Given the description of an element on the screen output the (x, y) to click on. 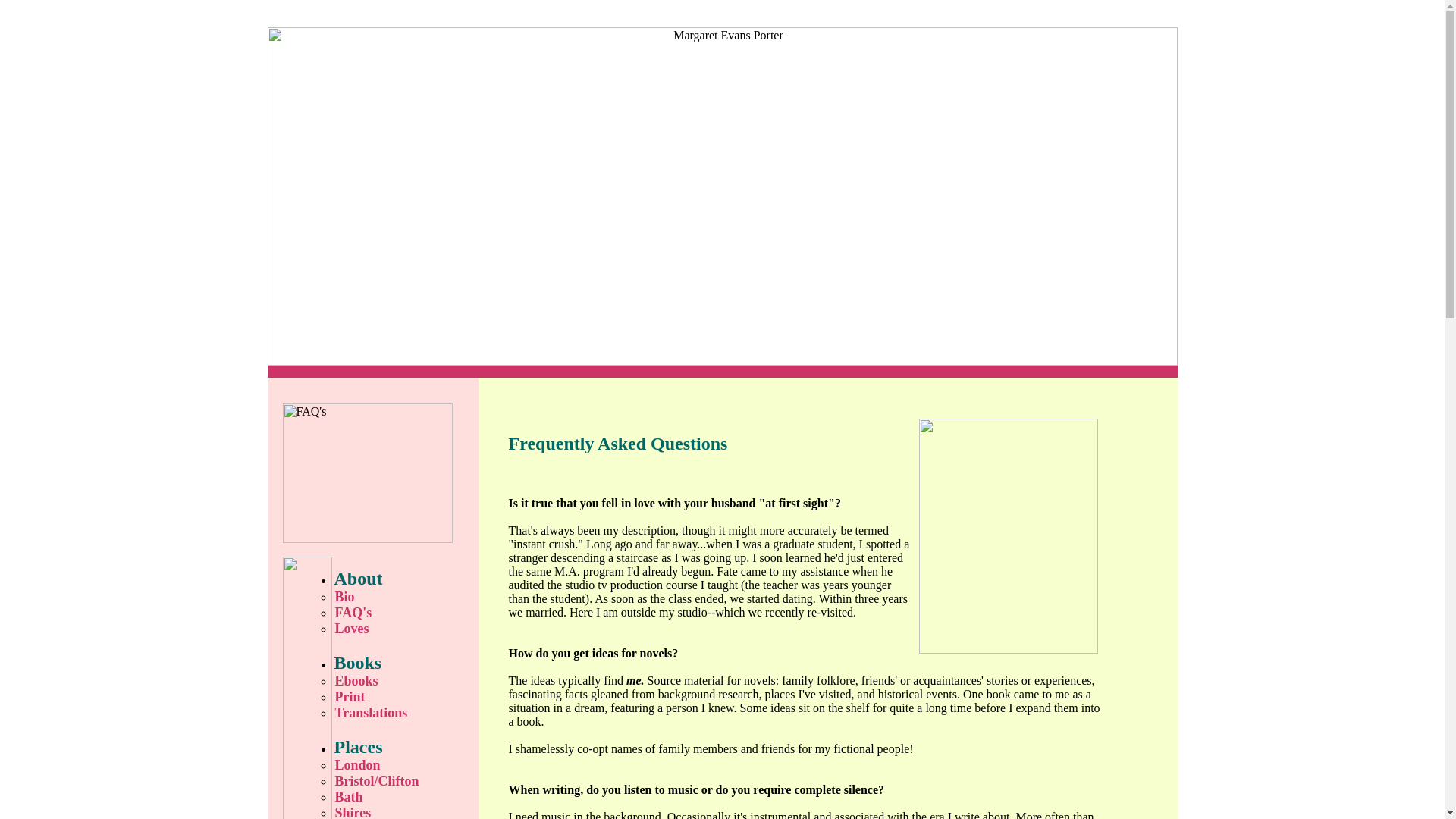
Shires (402, 812)
Bath (402, 797)
Loves (402, 628)
FAQ's (402, 612)
Ebooks (402, 681)
Bio (402, 596)
London (402, 765)
Print (402, 697)
Translations (402, 713)
